Given the description of an element on the screen output the (x, y) to click on. 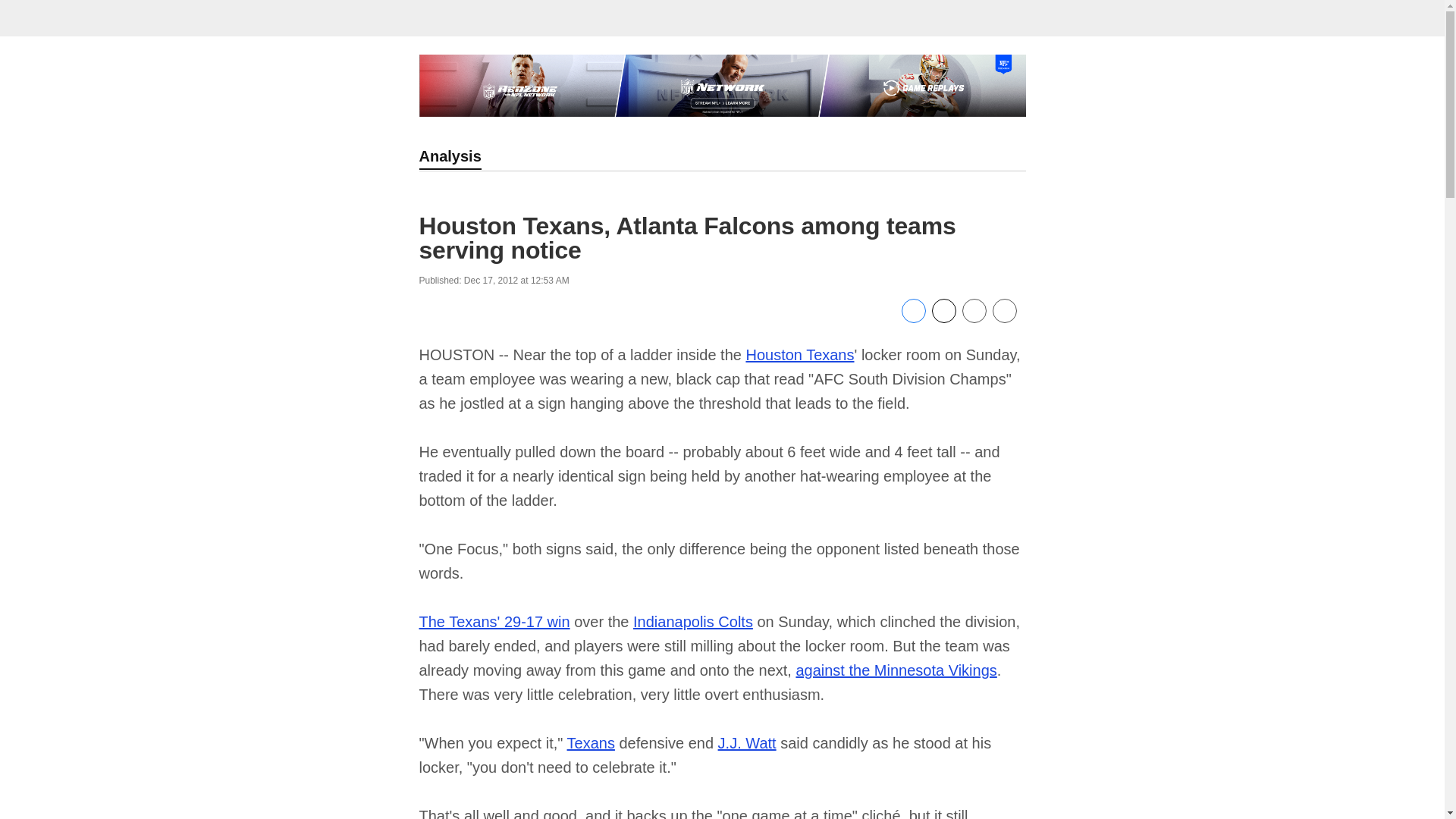
Share on Twitter (943, 318)
Indianapolis Colts (692, 621)
Texans (590, 742)
Share on Facebook (912, 318)
Analysis (449, 157)
Send email (972, 318)
against the Minnesota Vikings (894, 669)
Copy link (1003, 311)
The Texans' 29-17 win (494, 621)
J.J. Watt (746, 742)
